Given the description of an element on the screen output the (x, y) to click on. 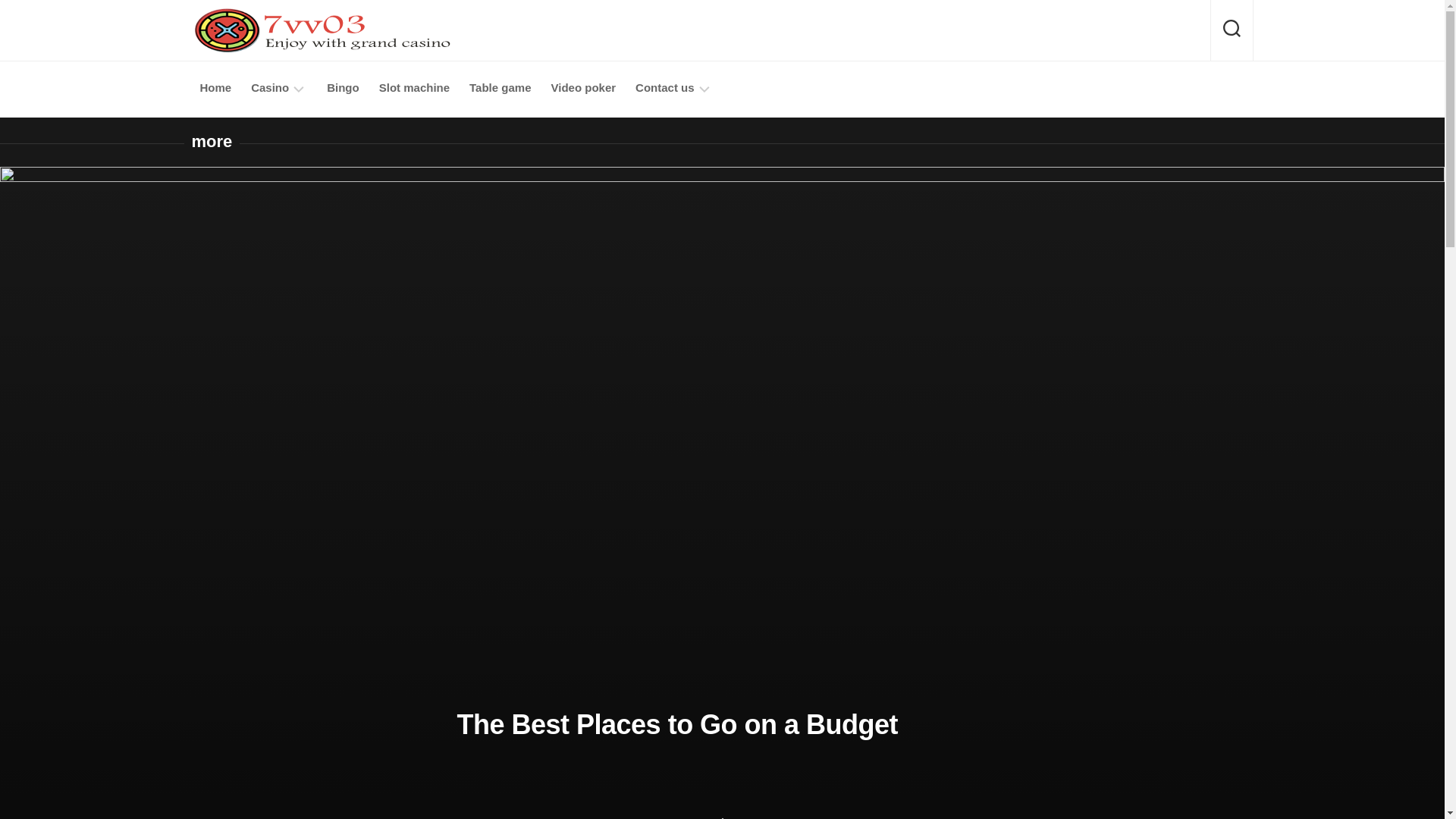
Contact us (664, 87)
Slot machine (413, 87)
Home (215, 87)
more (210, 140)
Casino (269, 87)
Video poker (582, 87)
Bingo (342, 87)
Table game (499, 87)
